Given the description of an element on the screen output the (x, y) to click on. 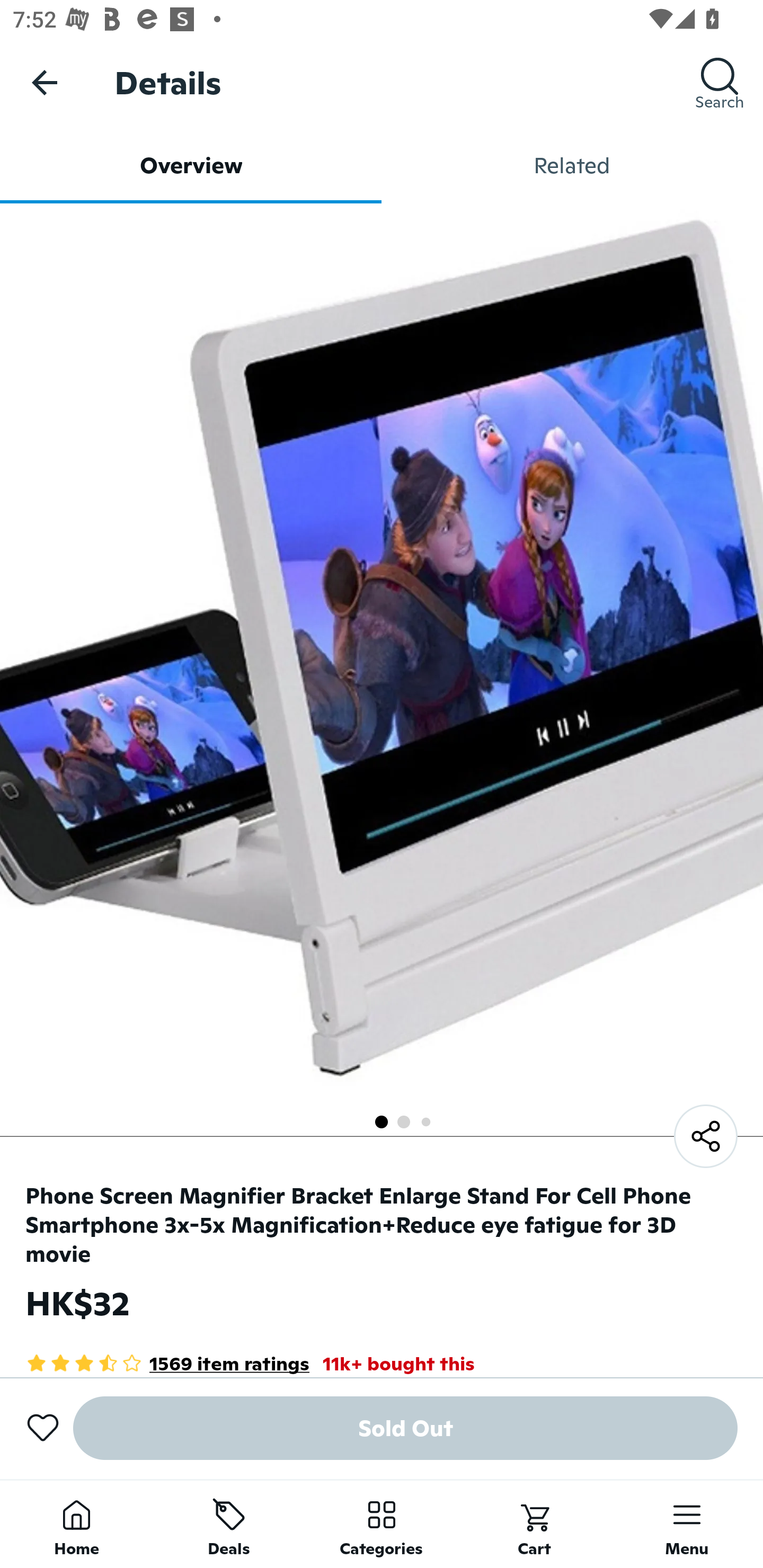
Navigate up (44, 82)
Search (719, 82)
Related (572, 165)
3.7 Star Rating 1569 item ratings (167, 1363)
Sold Out (405, 1428)
Home (76, 1523)
Deals (228, 1523)
Categories (381, 1523)
Cart (533, 1523)
Menu (686, 1523)
